Given the description of an element on the screen output the (x, y) to click on. 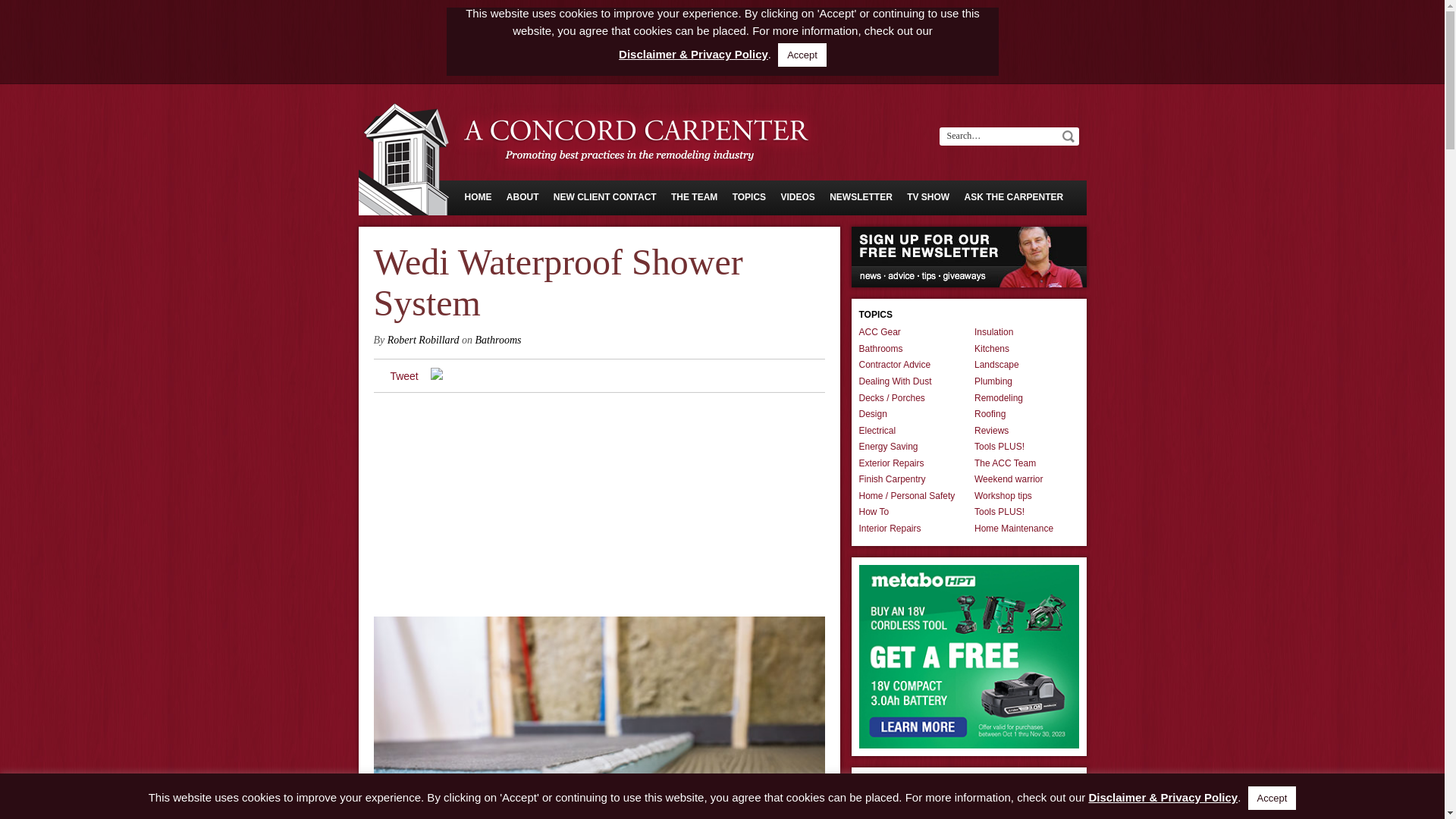
TOPICS (748, 196)
VIDEOS (796, 196)
Robert Robillard (423, 339)
THE TEAM (694, 196)
NEWSLETTER (860, 196)
HOME (478, 196)
TV SHOW (928, 196)
Bathrooms (498, 339)
Click Here to Find Answers to All Your Questions (1013, 196)
Advertisement (598, 510)
ABOUT (522, 196)
Tweet (403, 376)
ASK THE CARPENTER (1013, 196)
NEW CLIENT CONTACT (604, 196)
